Given the description of an element on the screen output the (x, y) to click on. 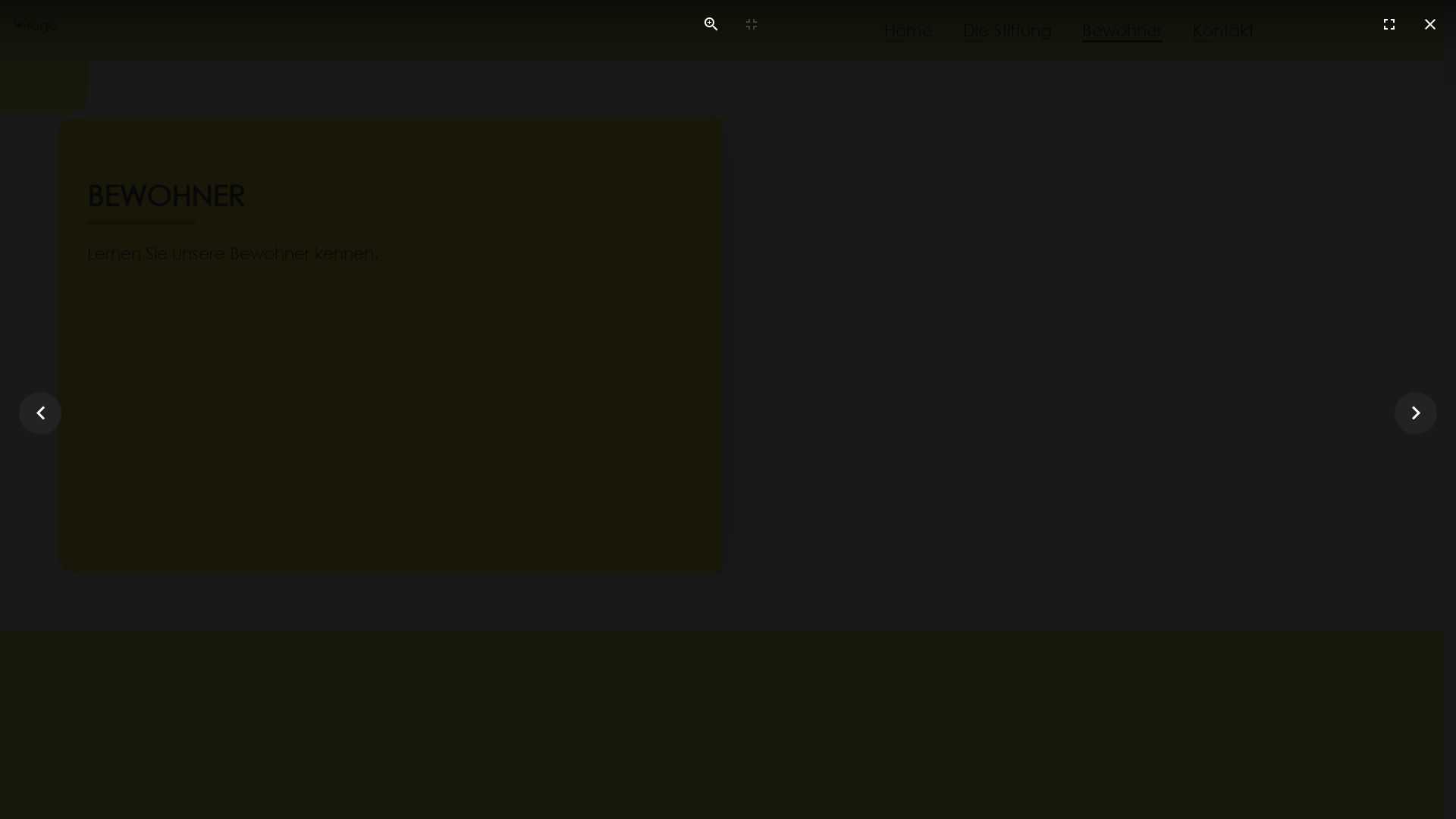
Die Stiftung Element type: text (1006, 31)
Bewohner Element type: text (1121, 31)
Kontakt Element type: text (1221, 31)
Home Element type: text (908, 31)
